Given the description of an element on the screen output the (x, y) to click on. 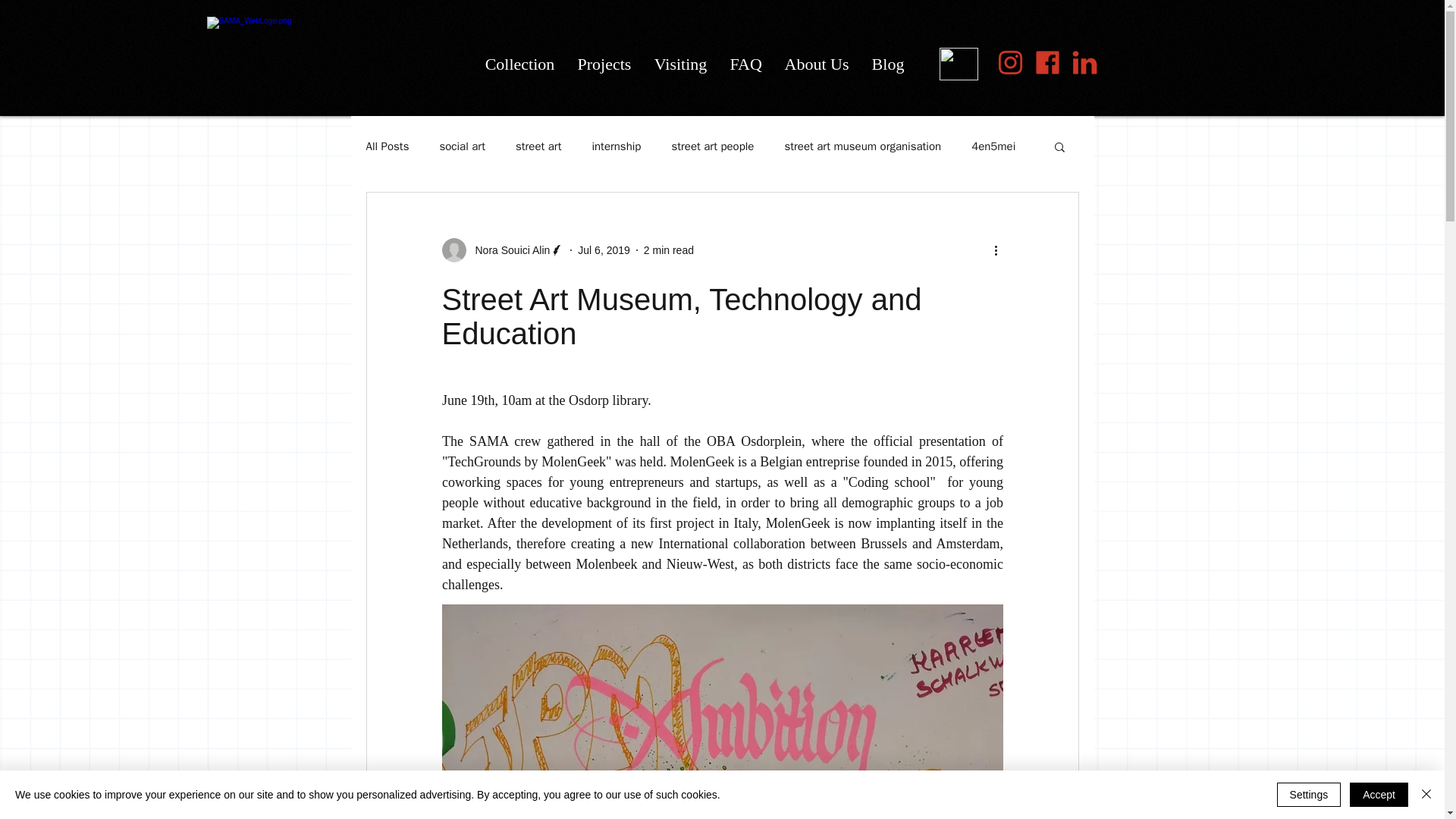
street art people (712, 146)
internship (615, 146)
Visiting (681, 63)
All Posts (387, 146)
About Us (816, 63)
street art (538, 146)
Blog (887, 63)
street art museum organisation (862, 146)
FAQ (746, 63)
Jul 6, 2019 (604, 250)
